Given the description of an element on the screen output the (x, y) to click on. 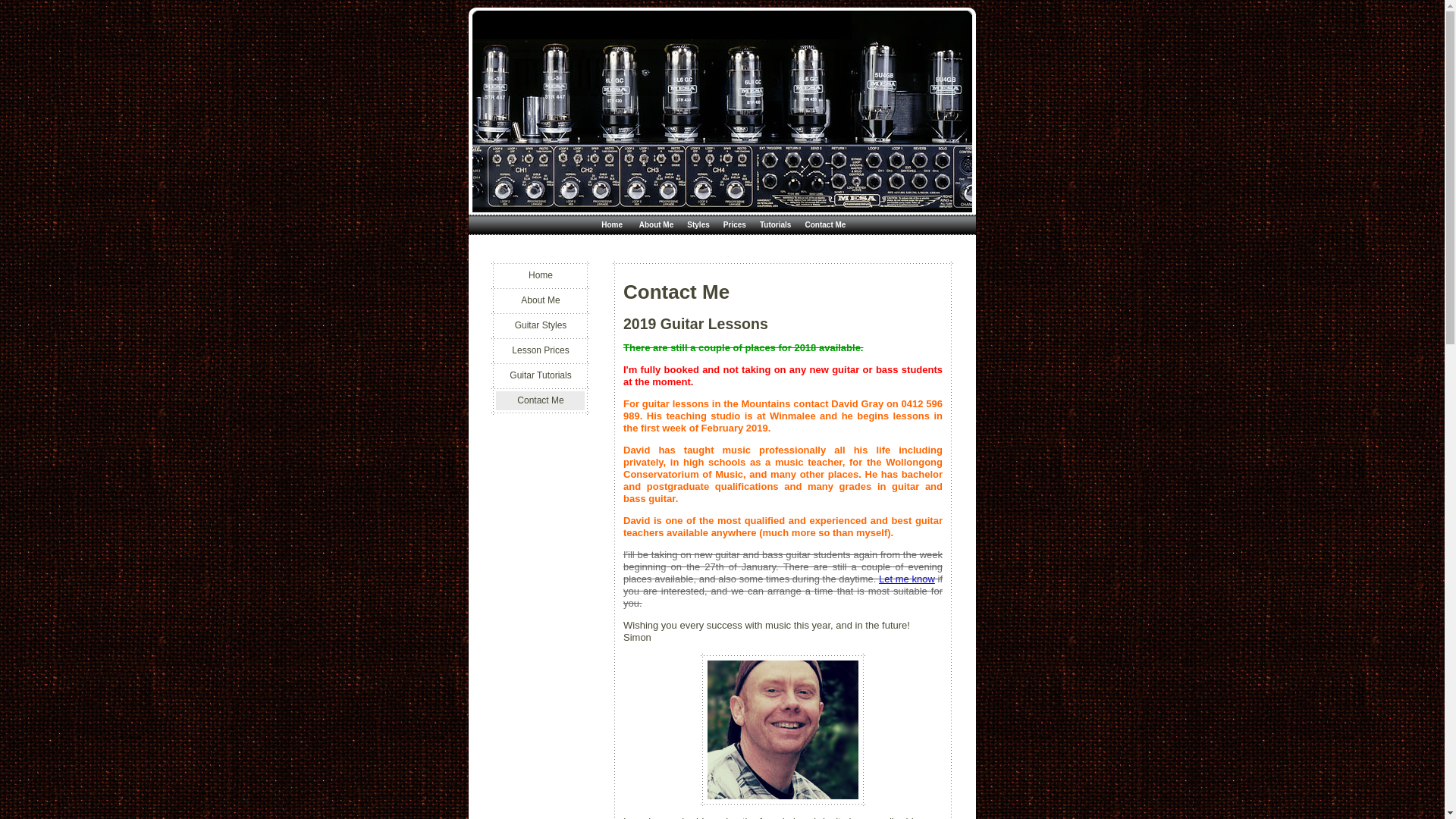
Home Element type: text (611, 224)
Prices Element type: text (734, 224)
About Me Element type: text (540, 300)
Guitar Tutorials Element type: text (540, 375)
Let me know Element type: text (906, 578)
Lesson Prices Element type: text (540, 350)
Styles Element type: text (698, 224)
Tutorials Element type: text (774, 224)
Guitar Styles Element type: text (540, 325)
Contact Me Element type: text (824, 224)
Home Element type: text (540, 275)
About Me Element type: text (656, 224)
Guitar Lessons in the Penrith and Lower Blue Mountains Area Element type: hover (722, 64)
